Given the description of an element on the screen output the (x, y) to click on. 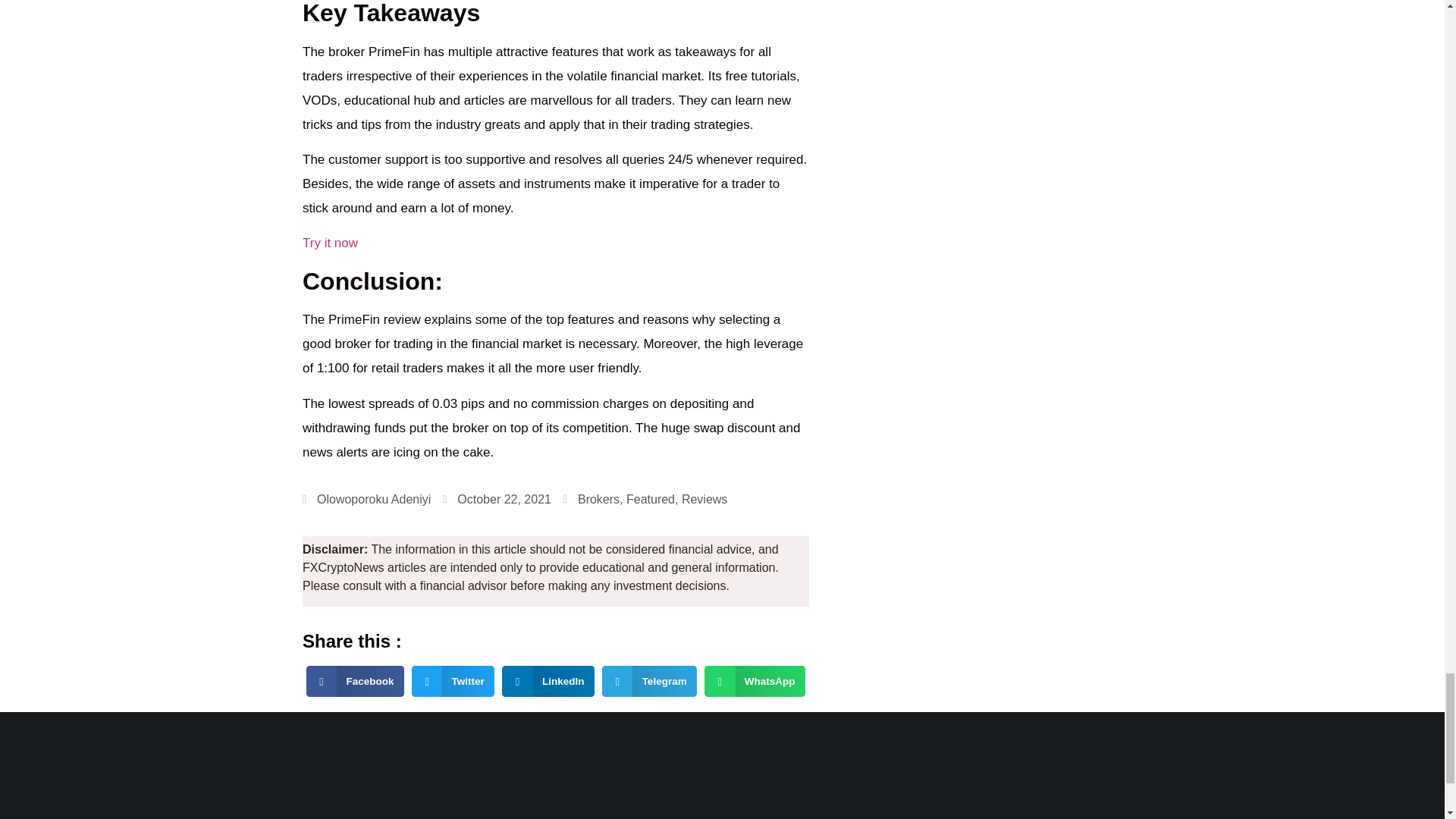
Featured (650, 499)
Brokers (599, 499)
Try it now (330, 242)
Olowoporoku Adeniyi (366, 499)
Reviews (703, 499)
October 22, 2021 (496, 499)
